Given the description of an element on the screen output the (x, y) to click on. 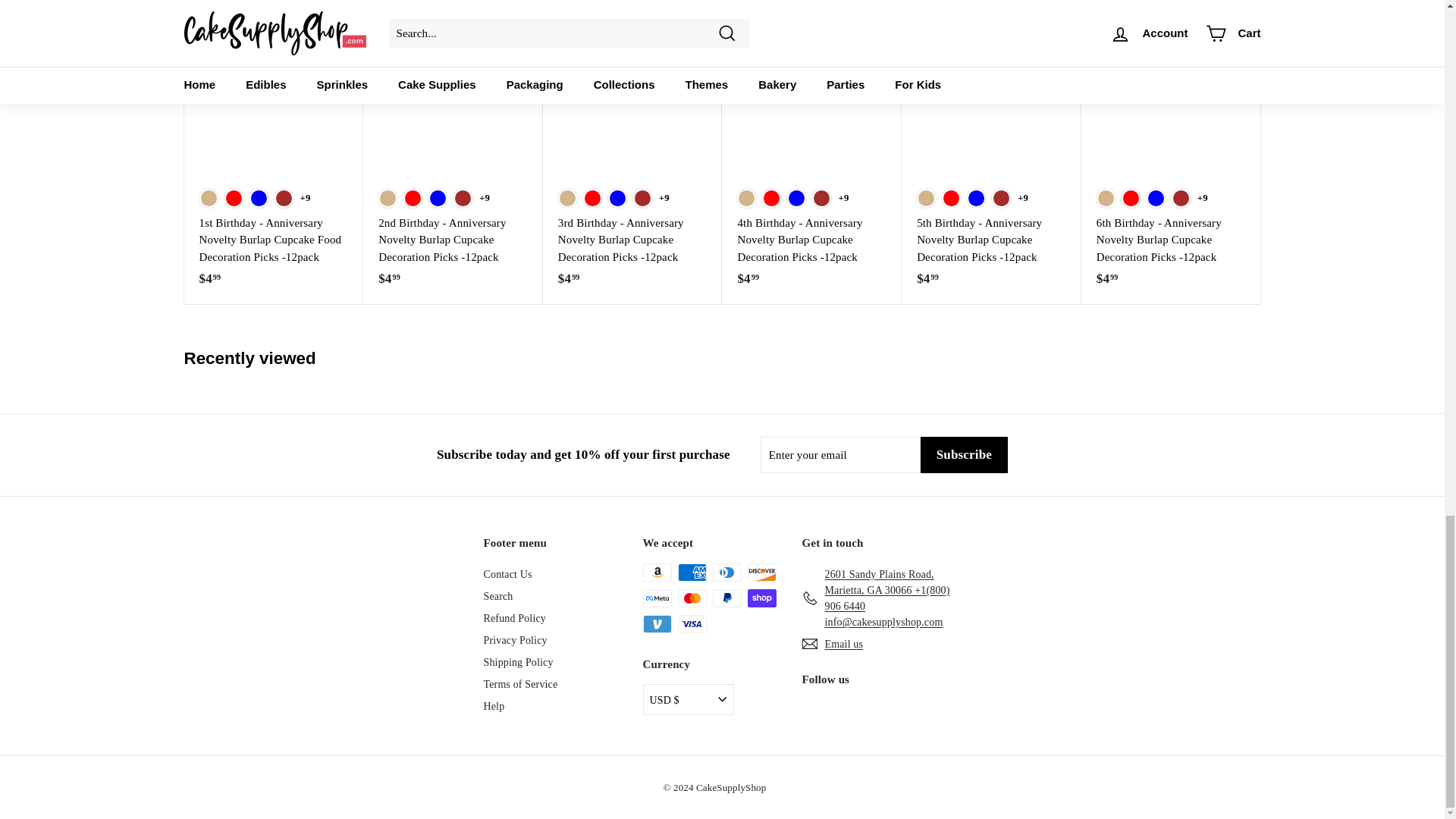
American Express (692, 572)
Venmo (657, 624)
Diners Club (727, 572)
Mastercard (692, 597)
PayPal (727, 597)
Shop Pay (762, 597)
Amazon (657, 572)
Discover (762, 572)
Meta Pay (657, 597)
